Given the description of an element on the screen output the (x, y) to click on. 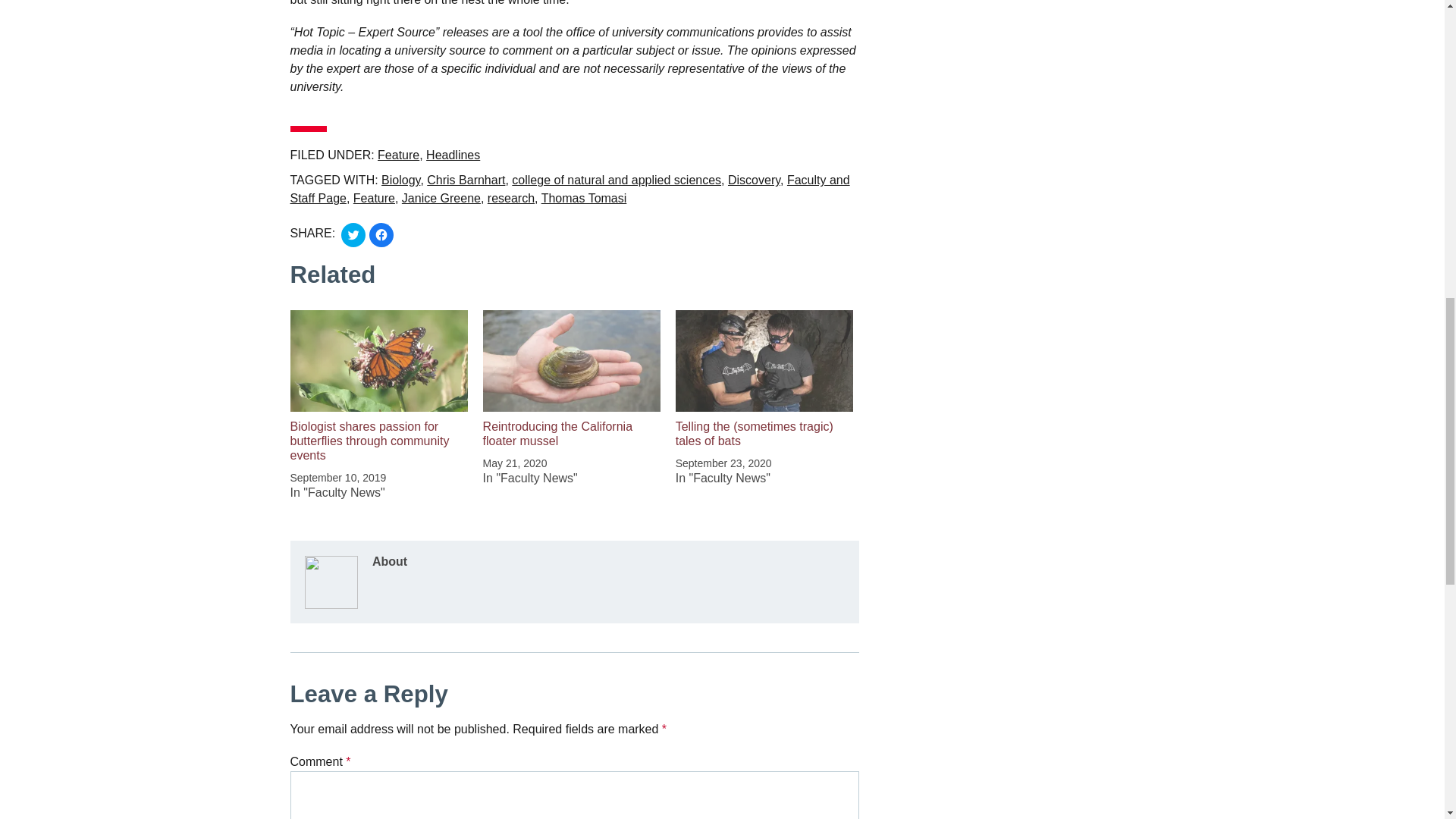
Reintroducing the California floater mussel (557, 433)
Click to share on Facebook (381, 234)
Click to share on Twitter (352, 234)
Reintroducing the California floater mussel (572, 360)
